Given the description of an element on the screen output the (x, y) to click on. 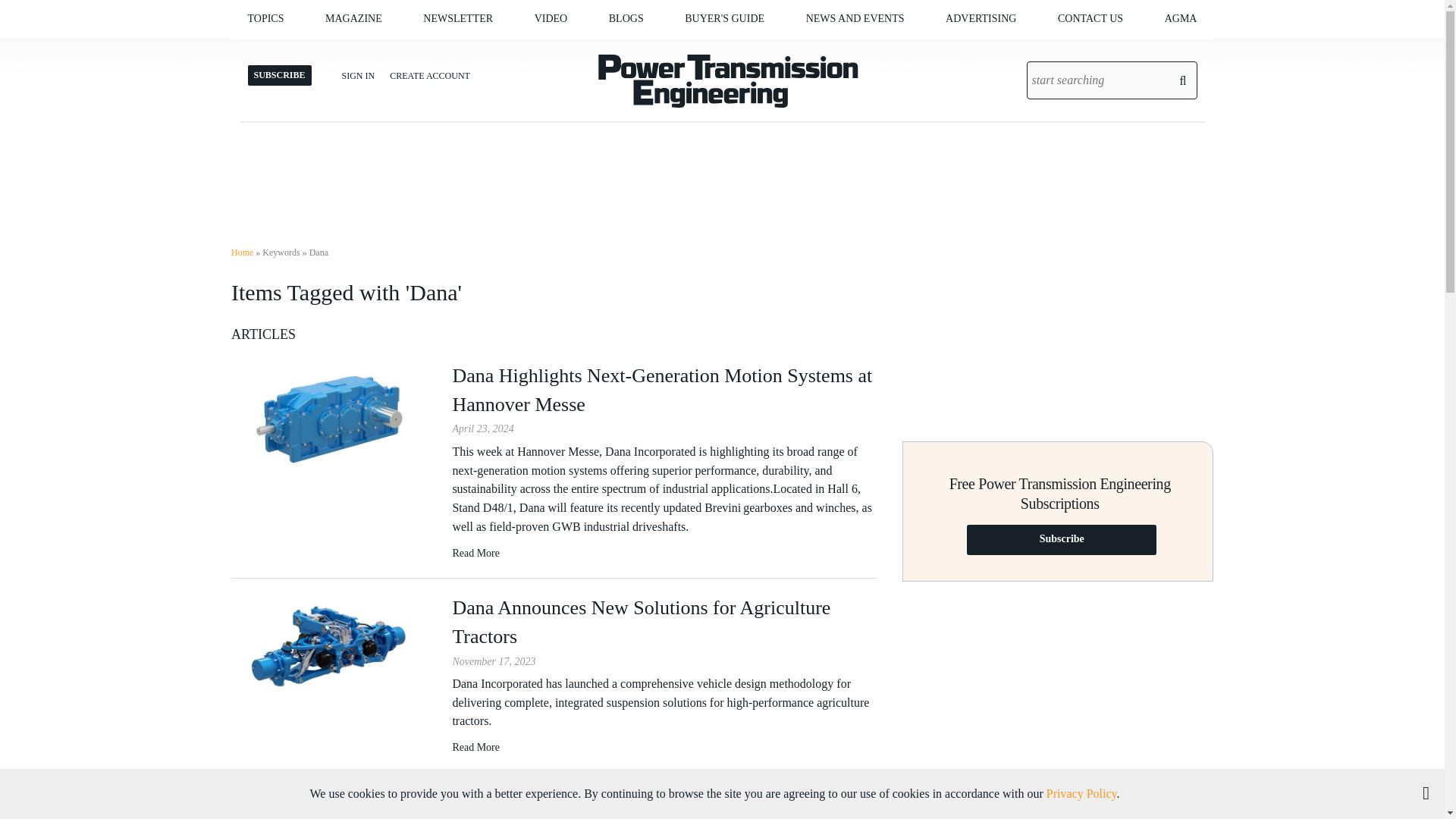
3rd party ad content (722, 172)
Dana Announces New Solutions for Agriculture Tractors (475, 746)
Dana Announces New Solutions for Agriculture Tractors (333, 649)
Dana - Advanced Suspension System.jpg (333, 650)
Dana-Transmission.jpg (333, 803)
Brevini1.jpg (333, 418)
